Given the description of an element on the screen output the (x, y) to click on. 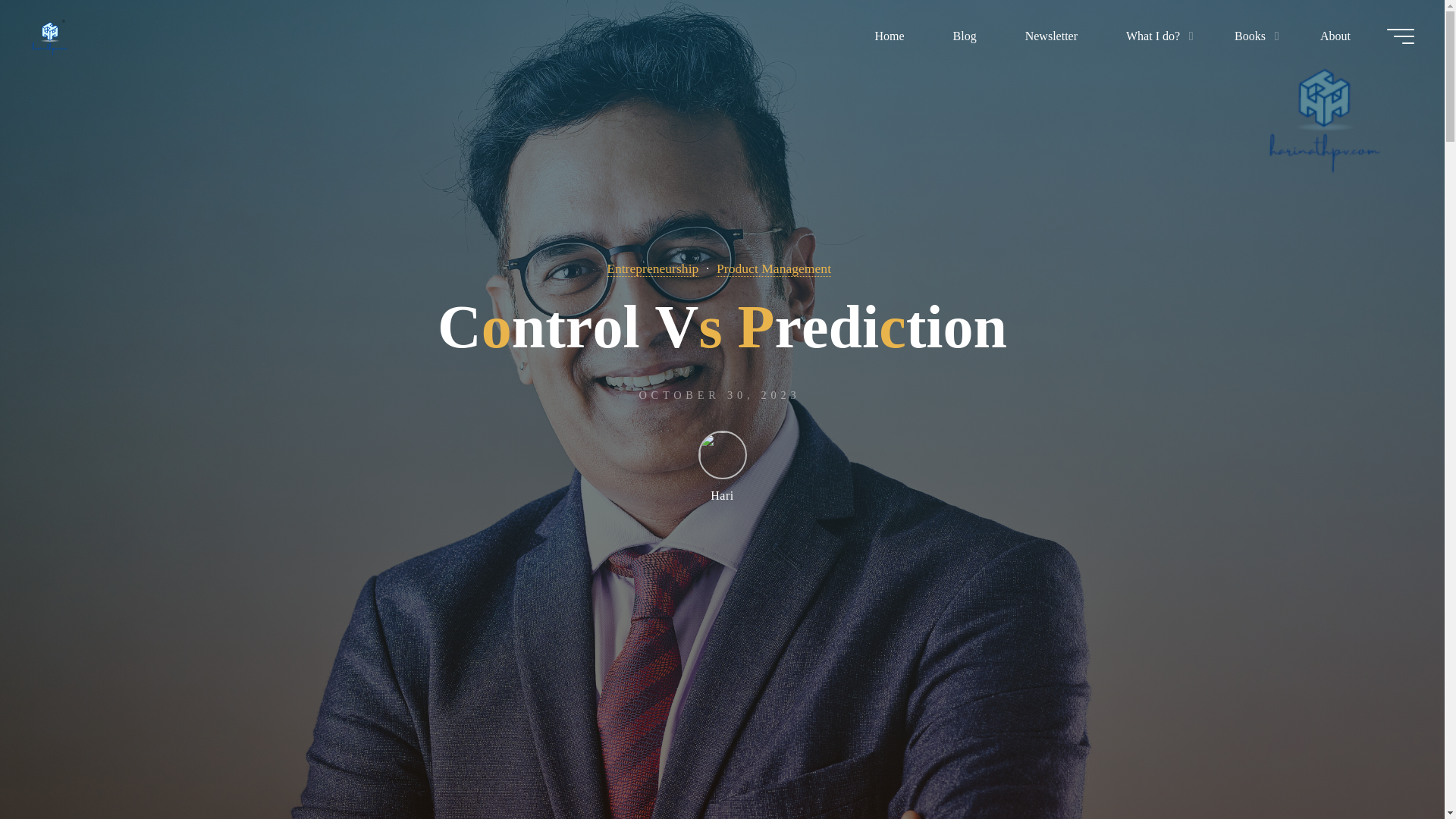
the discipline of freedom (49, 35)
Read more (721, 724)
Newsletter (1051, 35)
Home (889, 35)
What I do? (1155, 35)
Blog (964, 35)
